Given the description of an element on the screen output the (x, y) to click on. 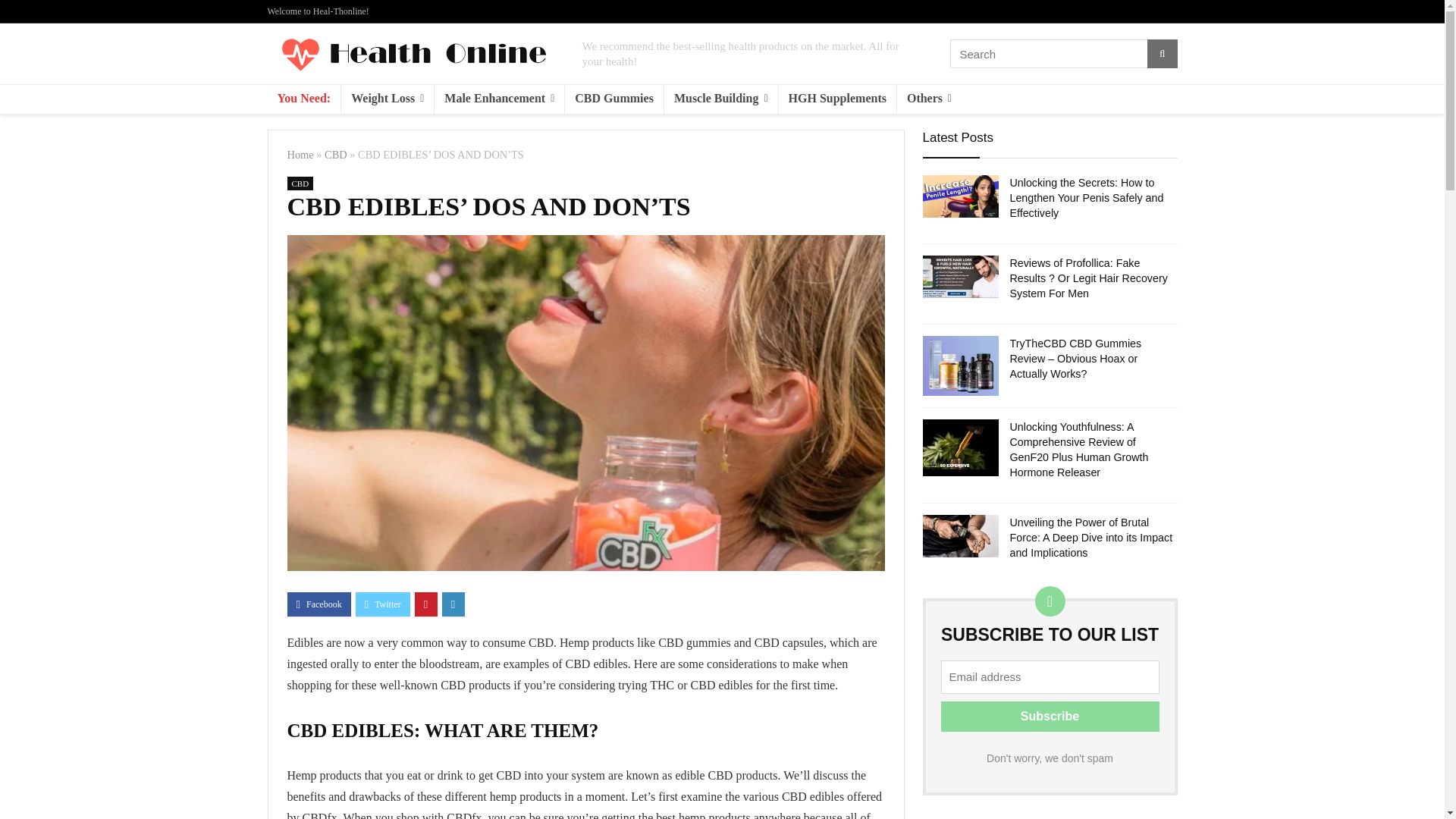
CBD Gummies (613, 99)
Welcome to Heal-Thonline! (317, 10)
Subscribe (1049, 716)
Weight Loss (386, 99)
View all posts in CBD (299, 183)
Others (928, 99)
Muscle Building (720, 99)
Male Enhancement (498, 99)
You Need: (303, 99)
HGH Supplements (837, 99)
